Given the description of an element on the screen output the (x, y) to click on. 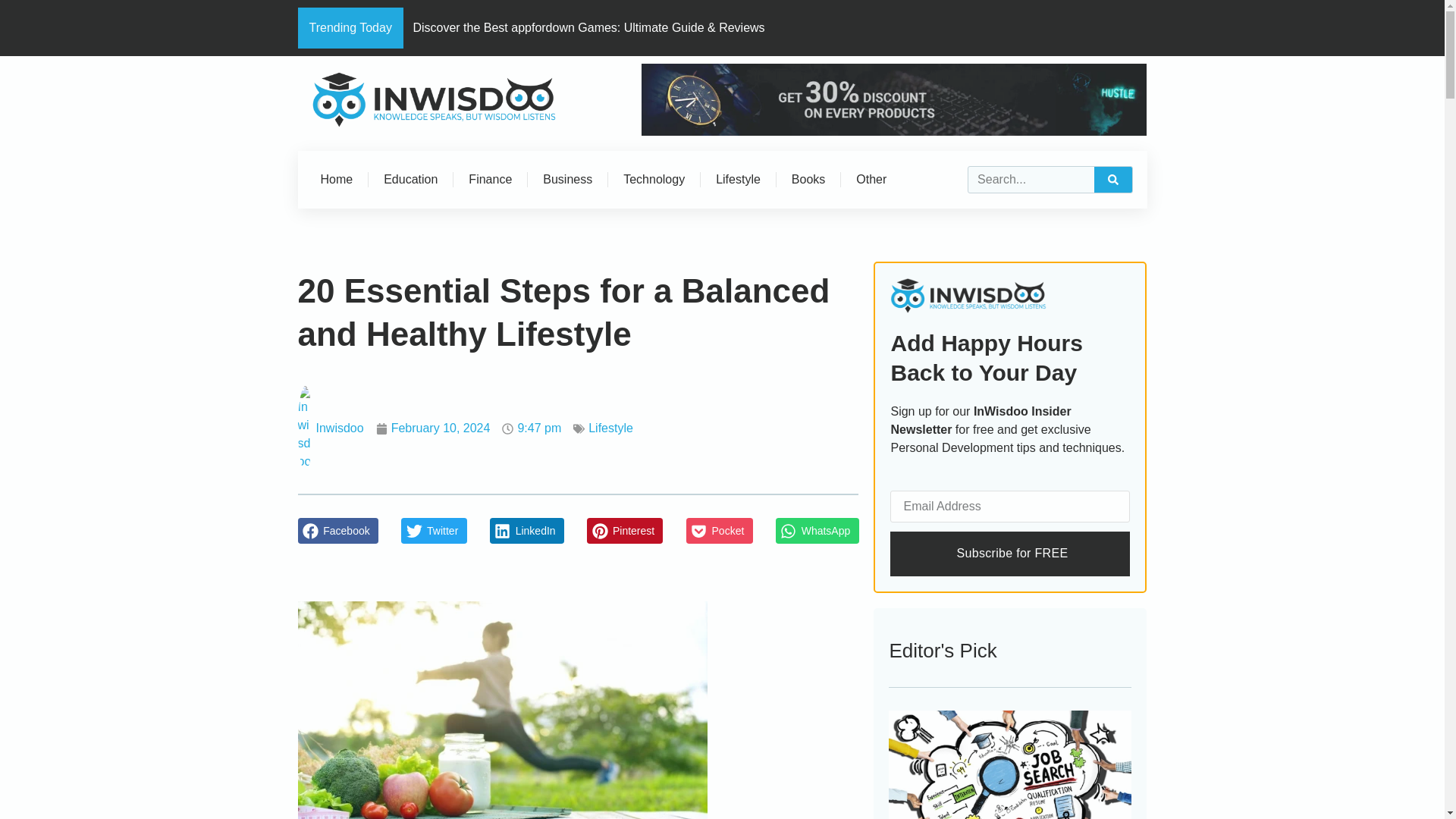
Other (871, 179)
February 10, 2024 (432, 428)
Home (336, 179)
Lifestyle (610, 427)
Business (567, 179)
Inwisdoo (329, 427)
Search (1113, 179)
Search (1031, 179)
Education (410, 179)
Technology (654, 179)
Finance (489, 179)
Lifestyle (738, 179)
Books (808, 179)
